Given the description of an element on the screen output the (x, y) to click on. 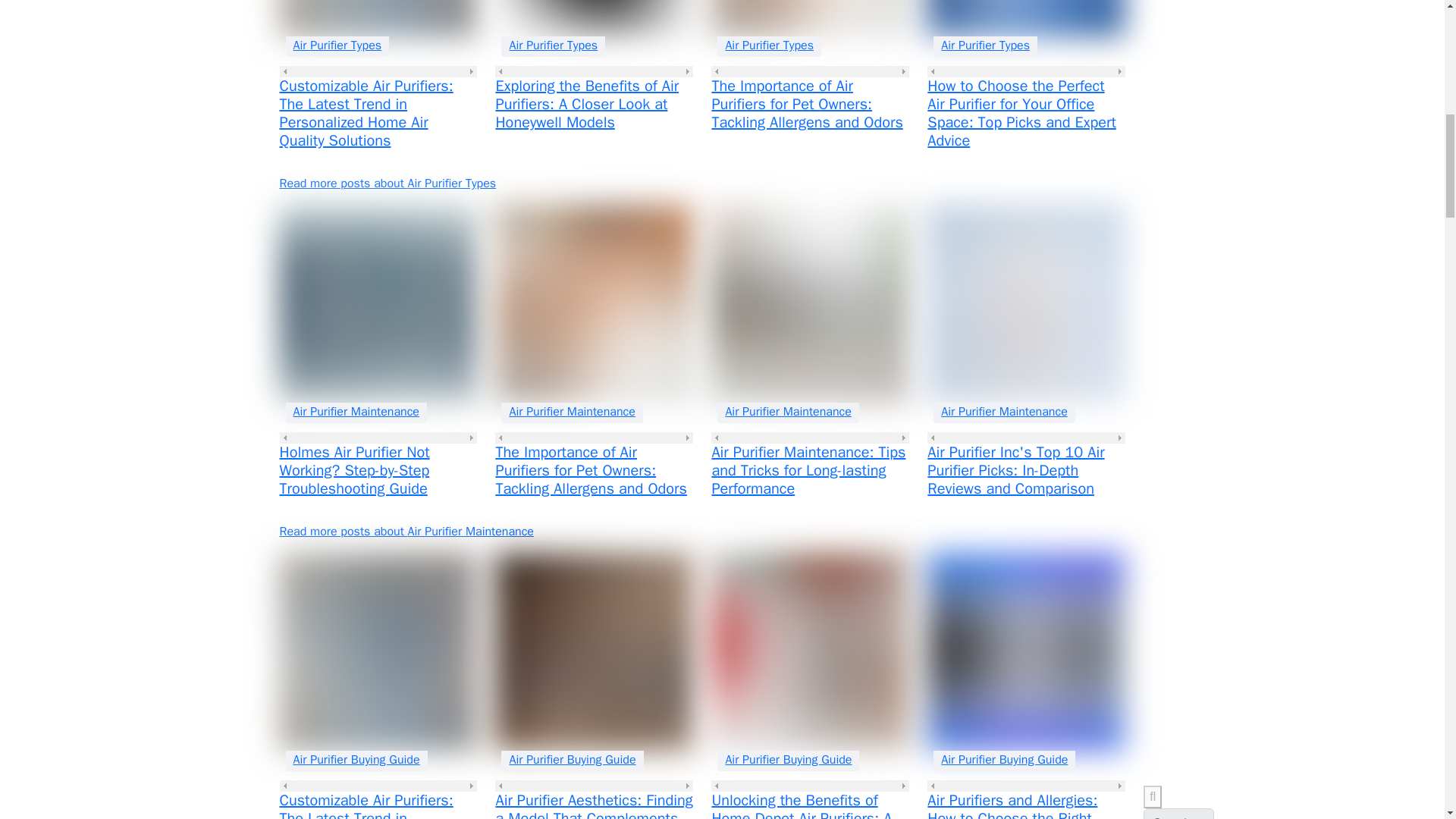
Air Purifier Types (769, 45)
Air Purifier Types (552, 45)
Air Purifier Types (336, 45)
